Given the description of an element on the screen output the (x, y) to click on. 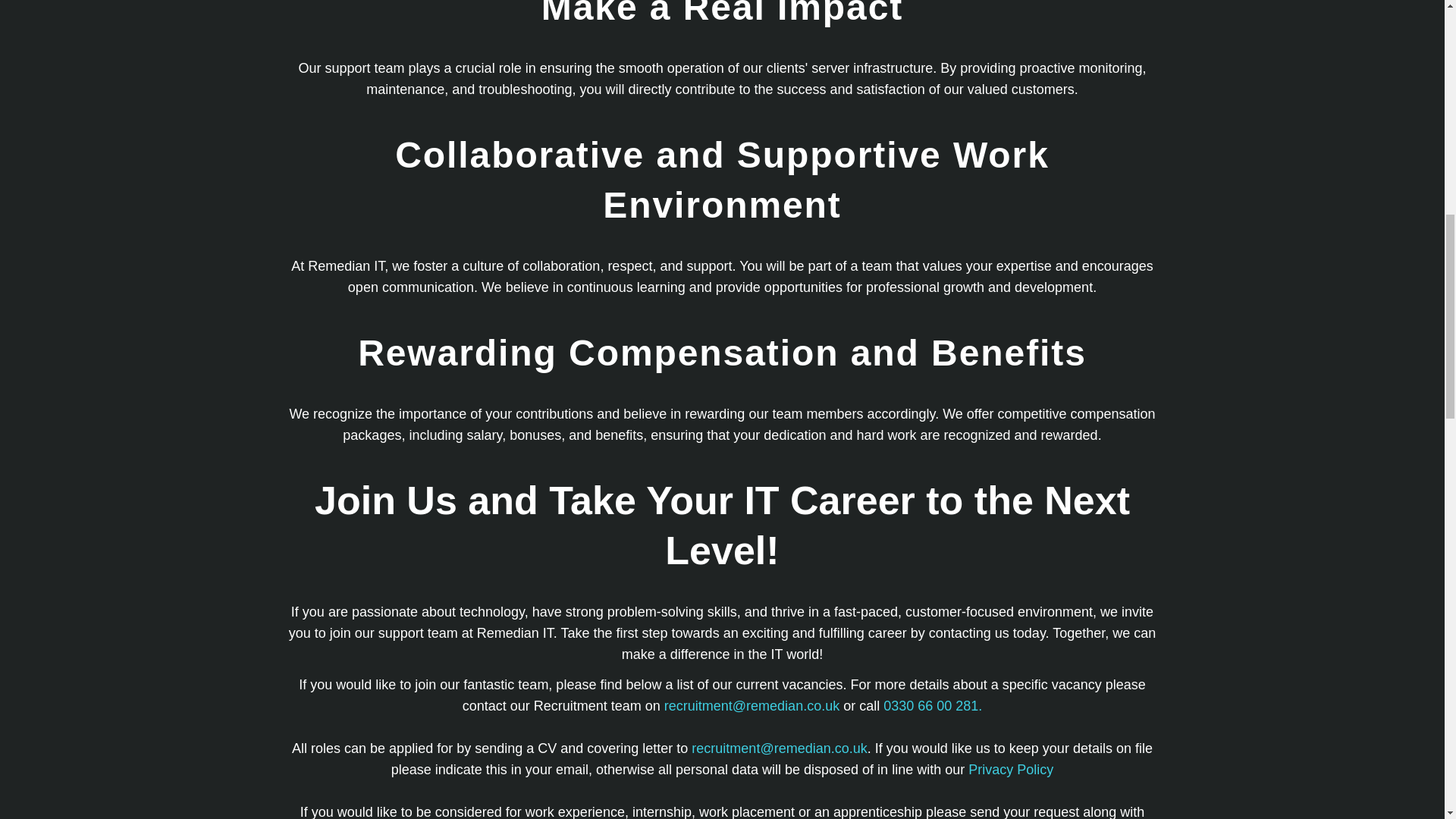
Privacy Policy (1010, 769)
0330 66 00 281. (932, 705)
